Given the description of an element on the screen output the (x, y) to click on. 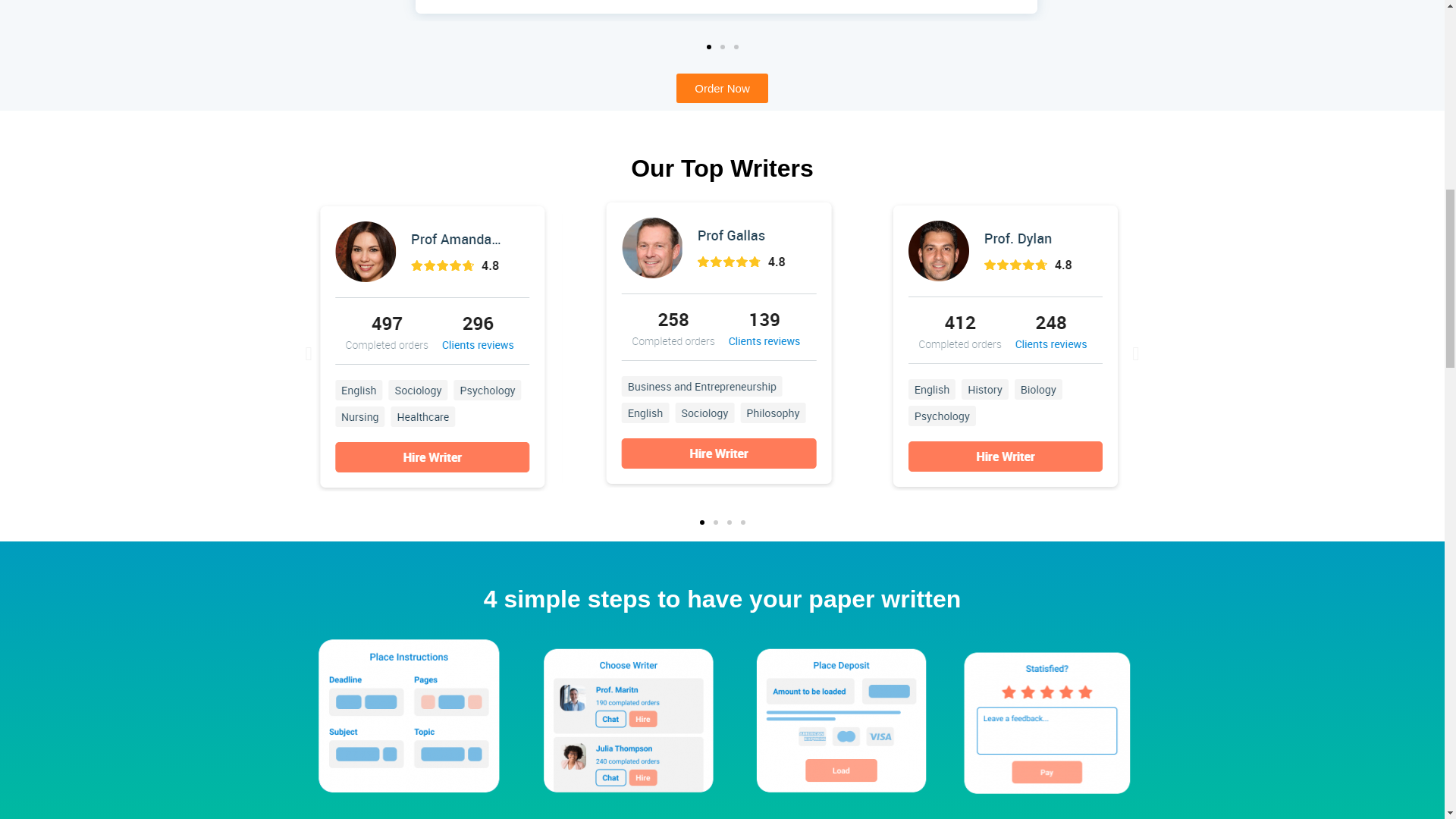
Best Essay Writing Service (625, 716)
Best Essay Writing Service (1045, 716)
Order Now (722, 88)
